Given the description of an element on the screen output the (x, y) to click on. 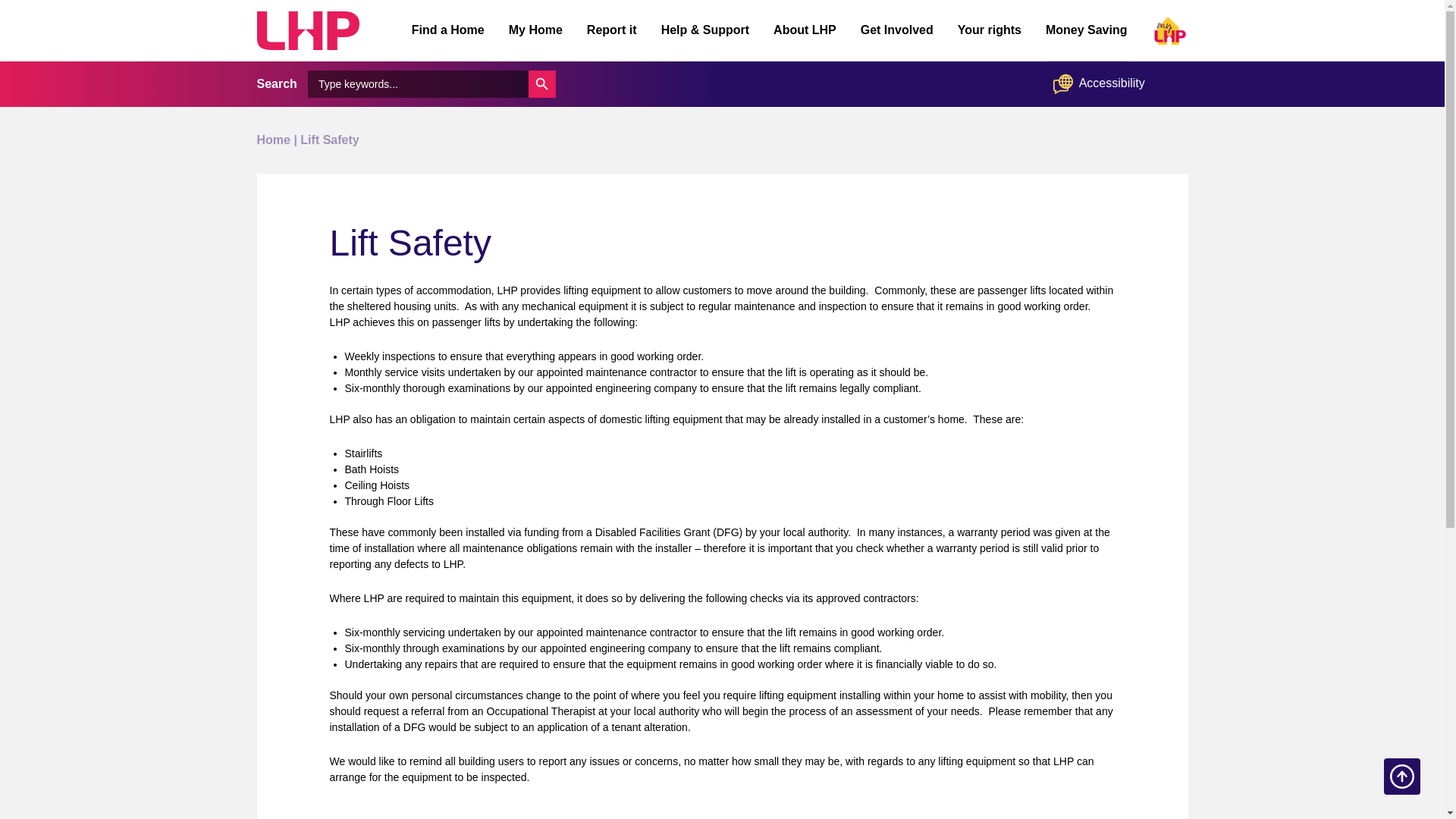
Find a Home (448, 30)
Listen with the ReachDeck Toolbar (1111, 83)
My Home (535, 30)
Go to top (1402, 776)
